Given the description of an element on the screen output the (x, y) to click on. 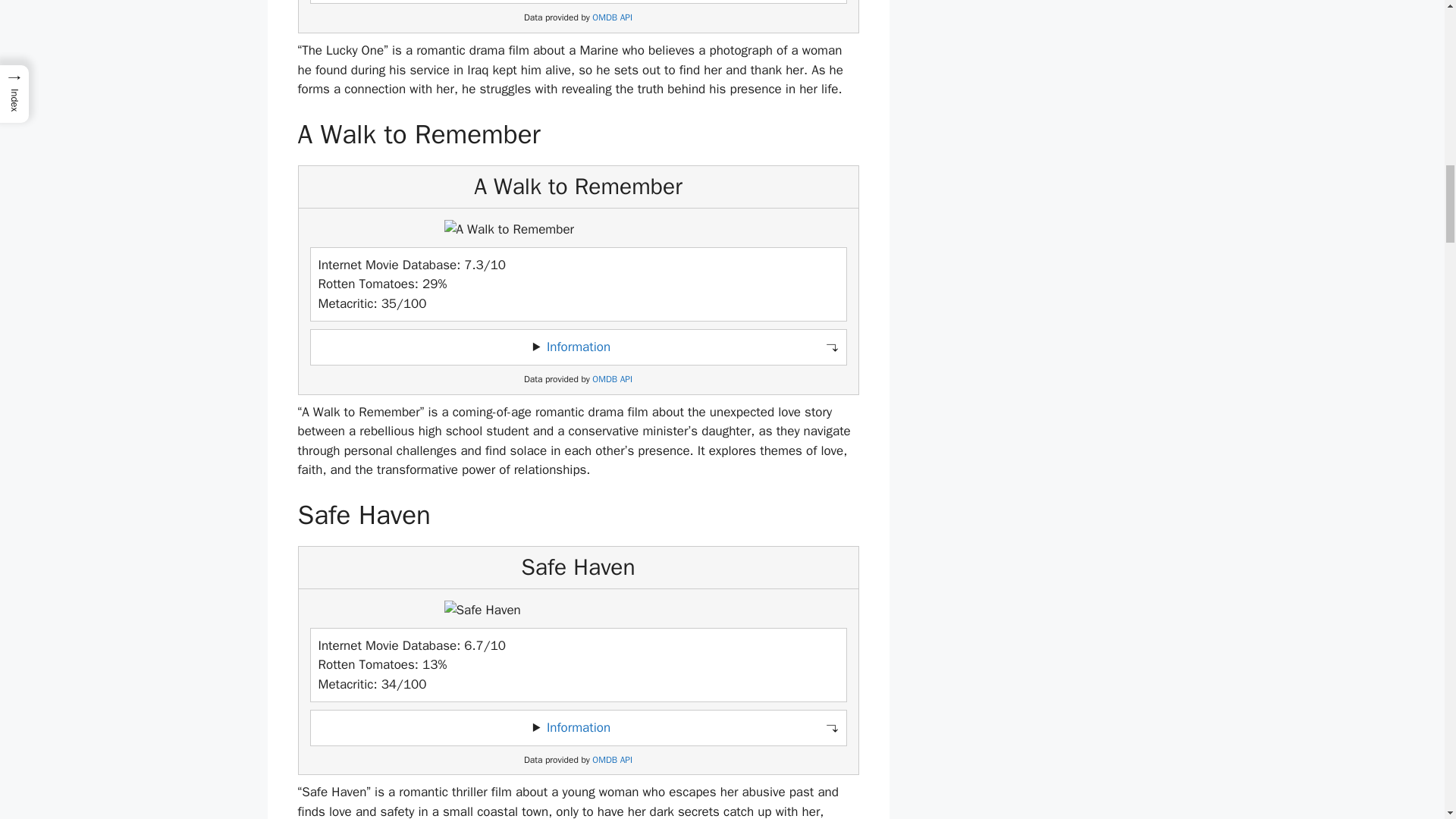
Open Movie Database API (611, 378)
Information (578, 727)
OMDB API (611, 17)
OMDB API (611, 378)
OMDB API (611, 759)
Open Movie Database API (611, 17)
Toggle information (578, 347)
Information (578, 346)
Open Movie Database API (611, 759)
Toggle information (578, 727)
